Given the description of an element on the screen output the (x, y) to click on. 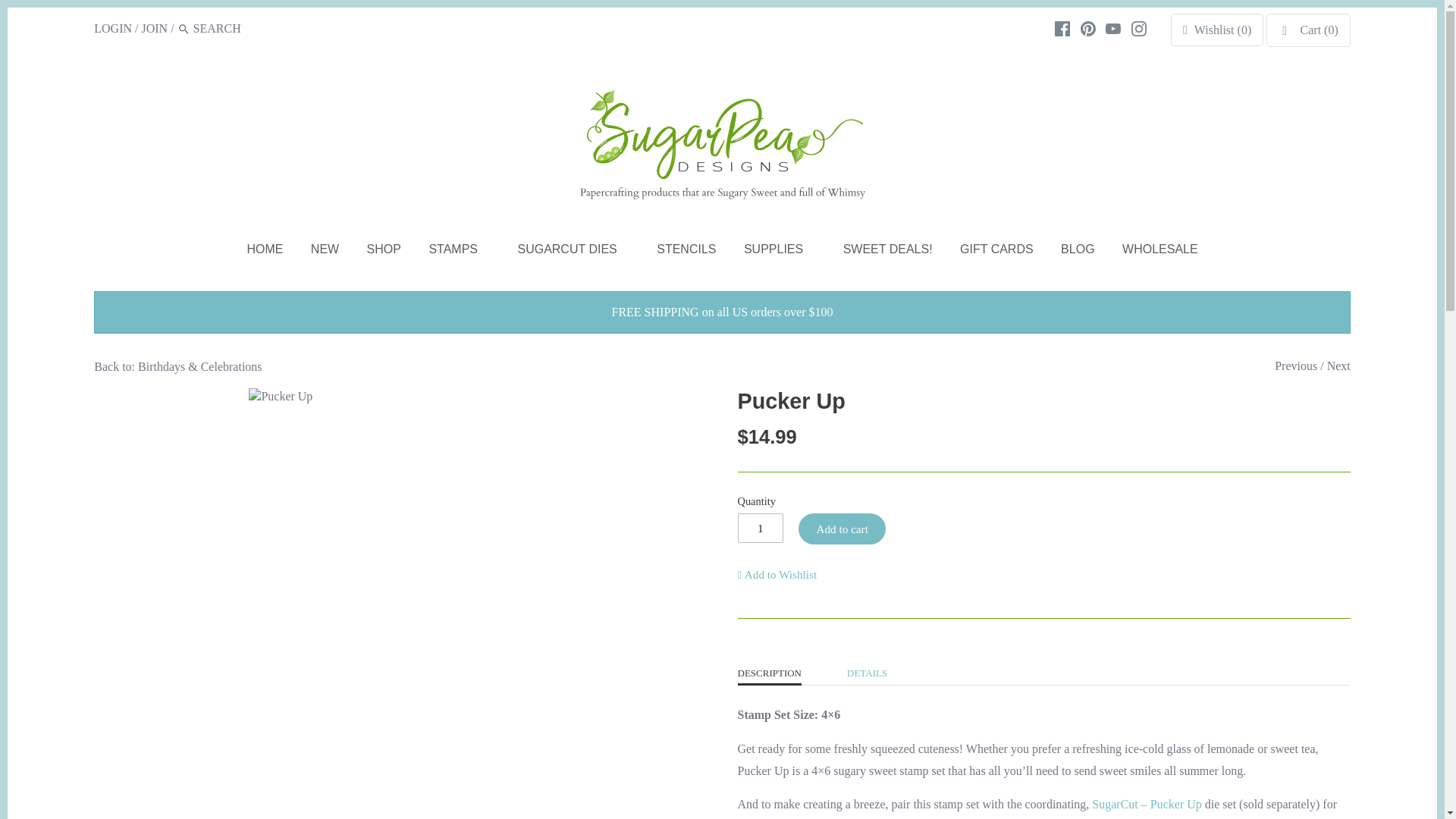
HOME (264, 251)
STENCILS (686, 251)
SHOP (384, 251)
STAMPS (452, 251)
FACEBOOK (1062, 28)
PINTEREST (1088, 28)
1 (759, 527)
NEW (324, 251)
Search (183, 29)
SUPPLIES (773, 251)
YOUTUBE (1113, 28)
SUGARCUT DIES (566, 251)
INSTAGRAM (1139, 28)
LOGIN (113, 28)
JOIN (154, 28)
